Given the description of an element on the screen output the (x, y) to click on. 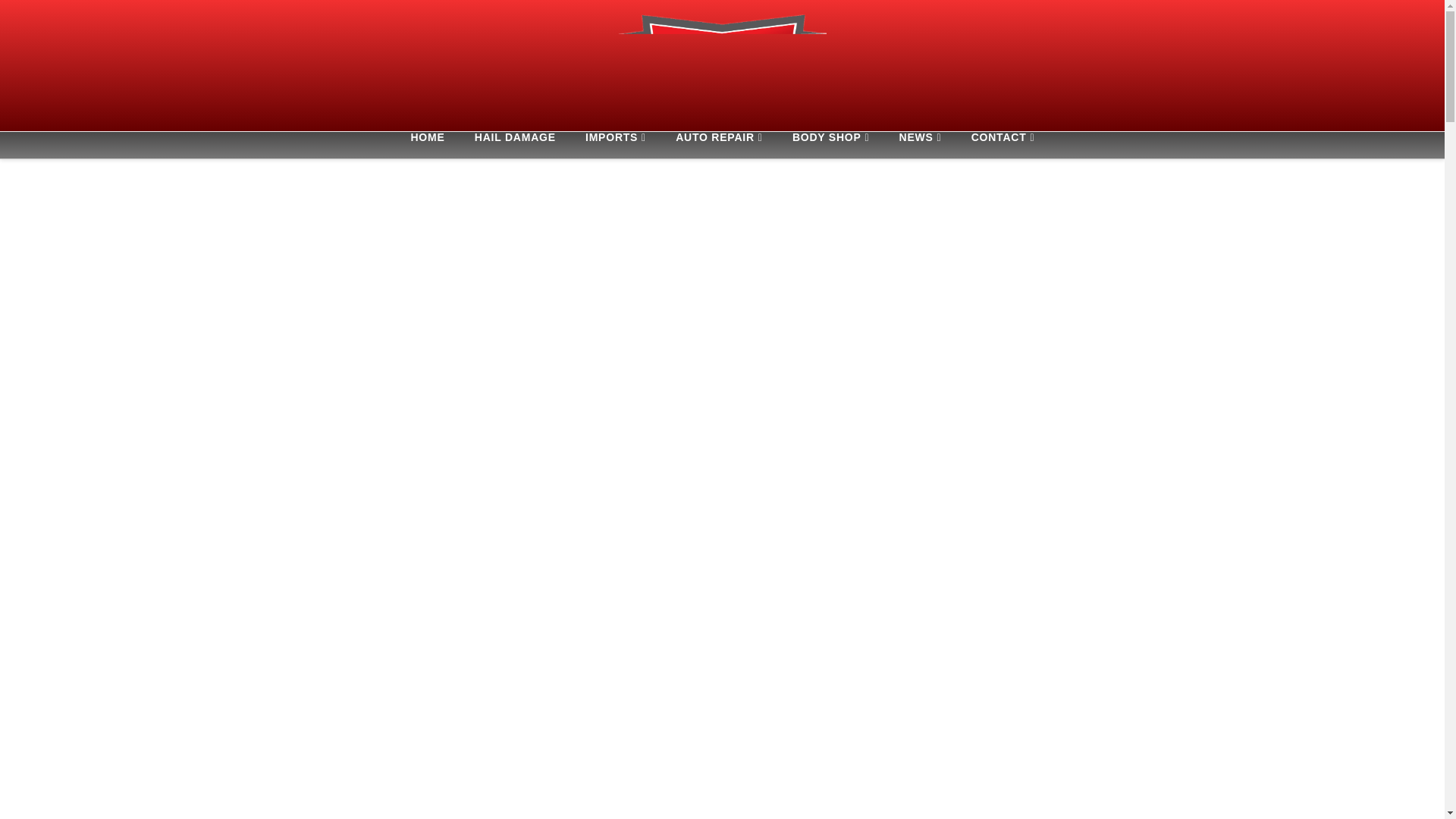
NEWS (919, 144)
CONTACT (1002, 144)
AUTO REPAIR (719, 144)
HOME (426, 144)
IMPORTS (615, 144)
HAIL DAMAGE (515, 144)
BODY SHOP (830, 144)
